Given the description of an element on the screen output the (x, y) to click on. 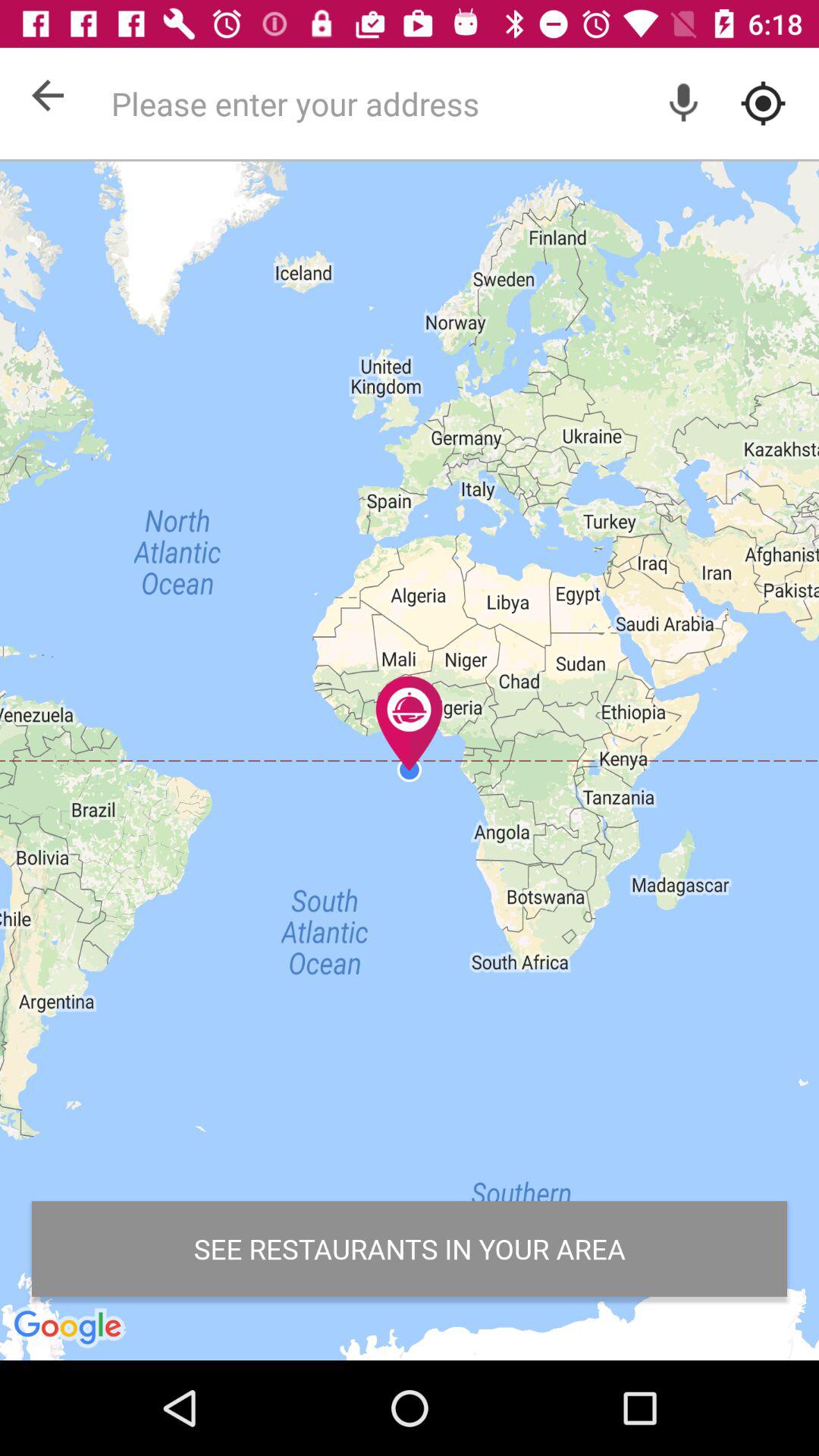
go to record (683, 103)
